Given the description of an element on the screen output the (x, y) to click on. 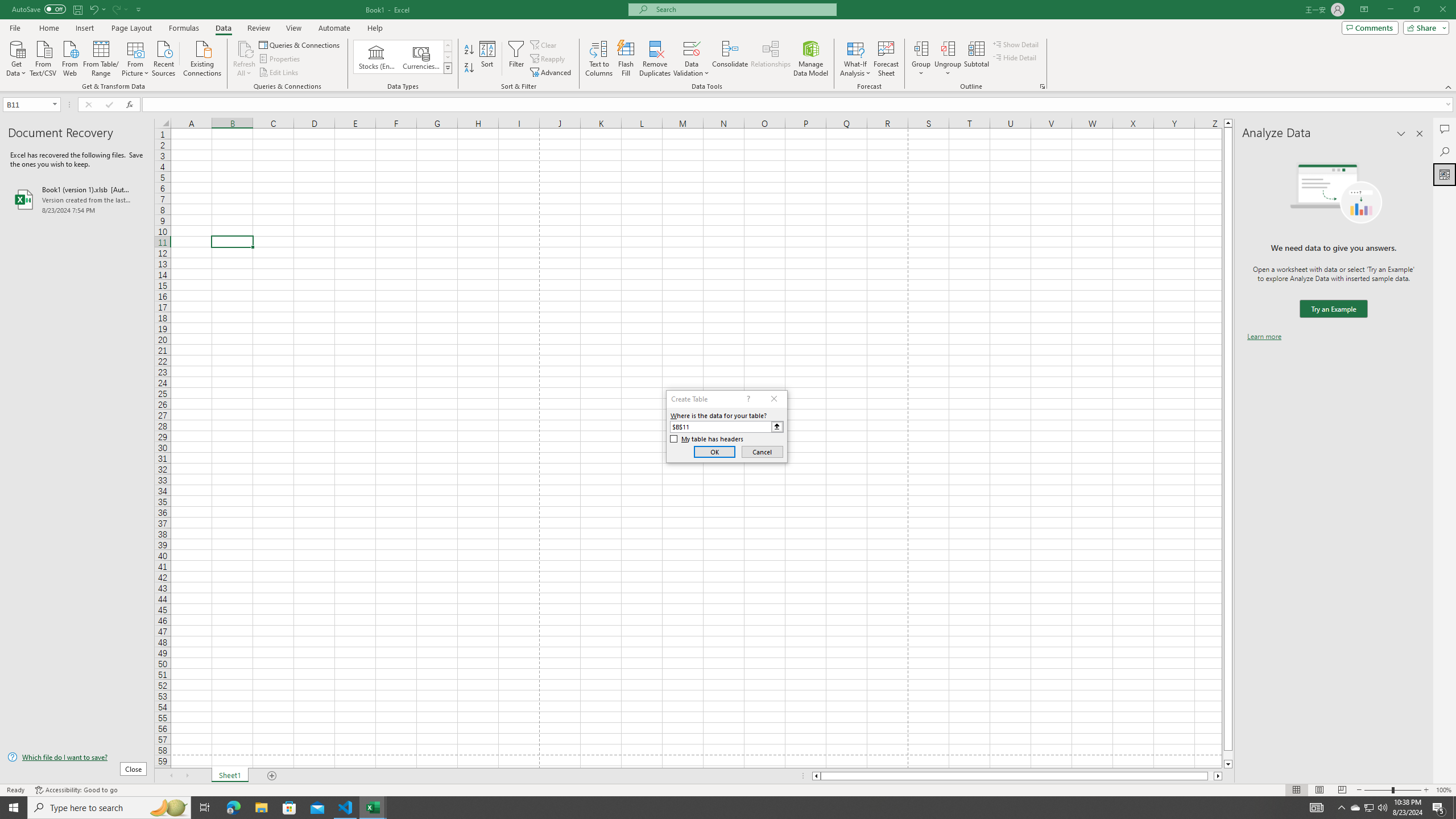
Hide Detail (1014, 56)
From Table/Range (100, 57)
Restore Down (1416, 9)
Which file do I want to save? (77, 757)
Forecast Sheet (885, 58)
Edit Links (279, 72)
Refresh All (244, 58)
Flash Fill (625, 58)
Line up (1228, 122)
Currencies (English) (420, 56)
Filter (515, 58)
Class: NetUIImage (447, 68)
